Given the description of an element on the screen output the (x, y) to click on. 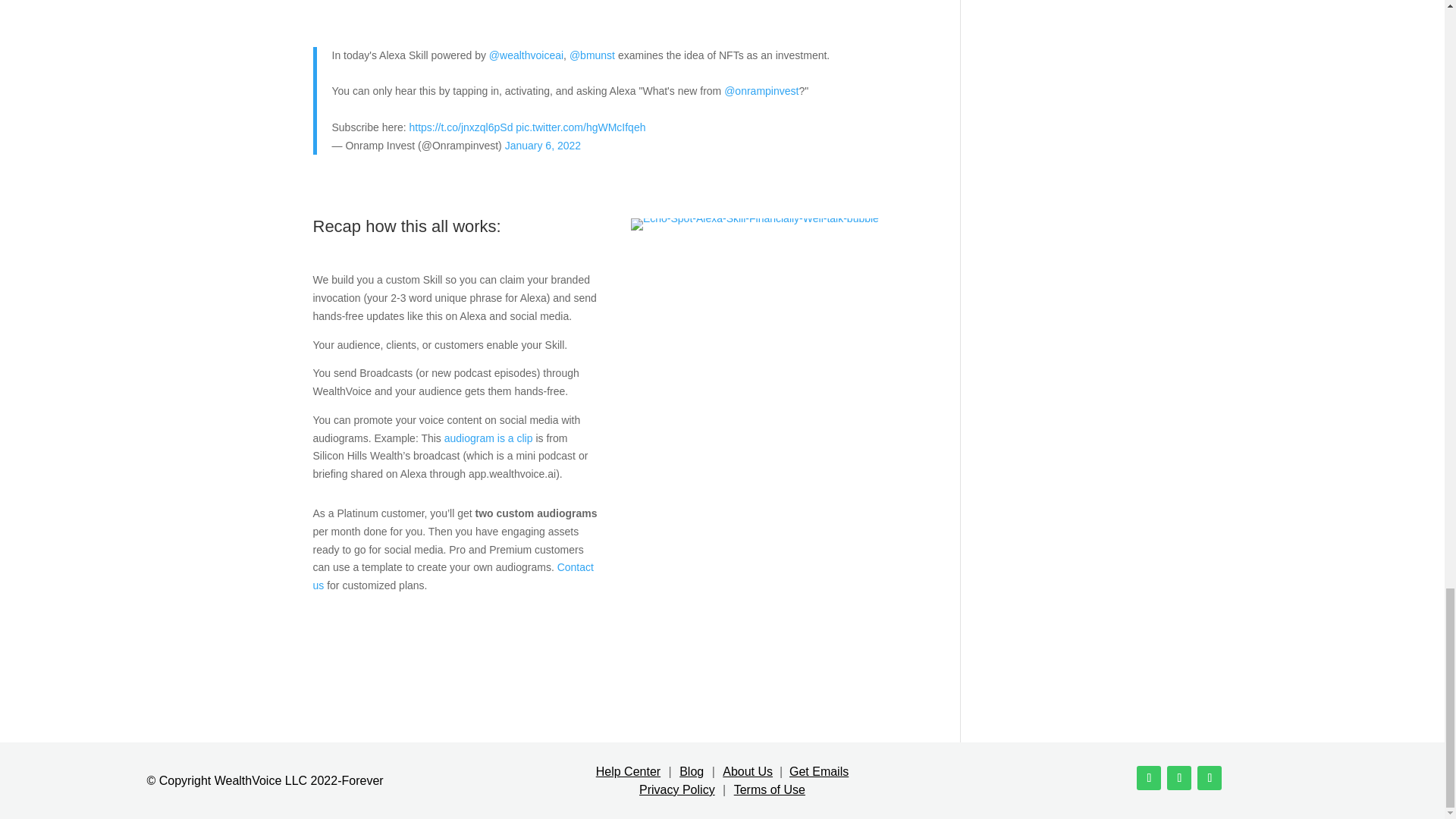
Follow on X (1148, 777)
January 6, 2022 (542, 145)
Contact us (452, 576)
ask for update- kevin and echo spot speaker (754, 224)
audiogram is a clip (488, 438)
Follow on Instagram (1179, 777)
Follow on LinkedIn (1208, 777)
